Given the description of an element on the screen output the (x, y) to click on. 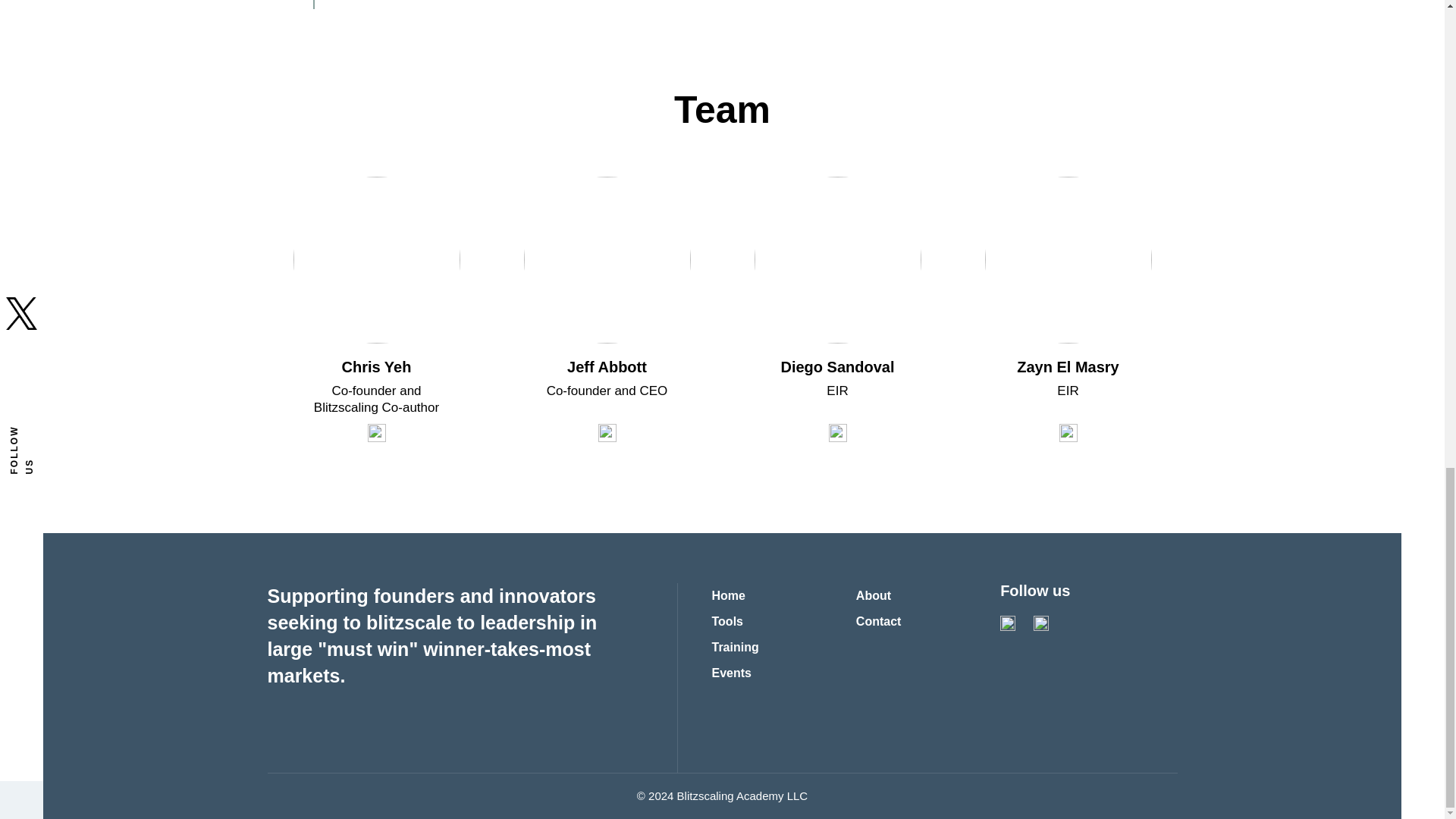
Contact (878, 621)
Events (731, 673)
Training (734, 647)
About (873, 596)
Home (727, 596)
Tools (726, 621)
